Given the description of an element on the screen output the (x, y) to click on. 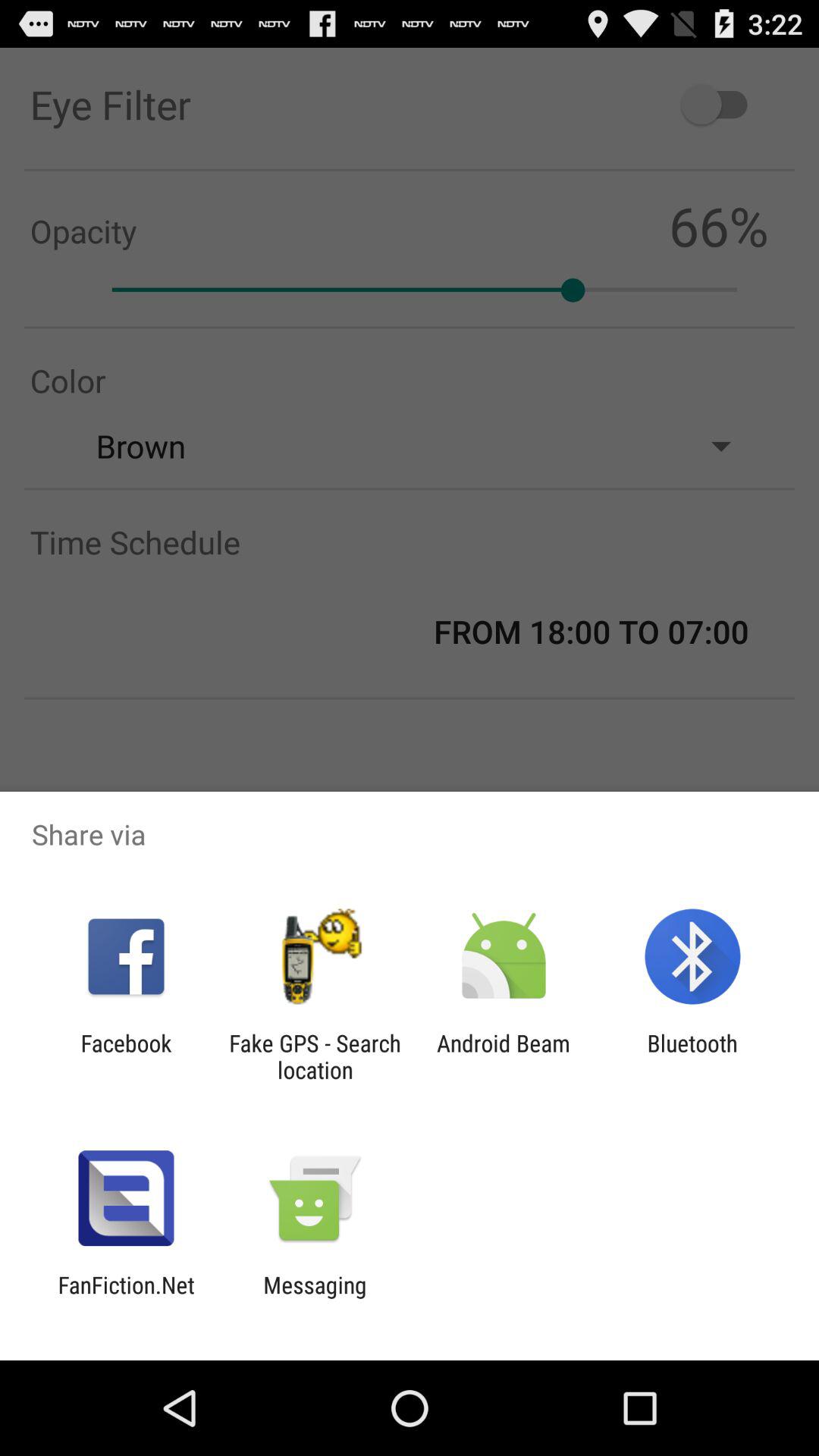
click app next to fake gps search app (125, 1056)
